Given the description of an element on the screen output the (x, y) to click on. 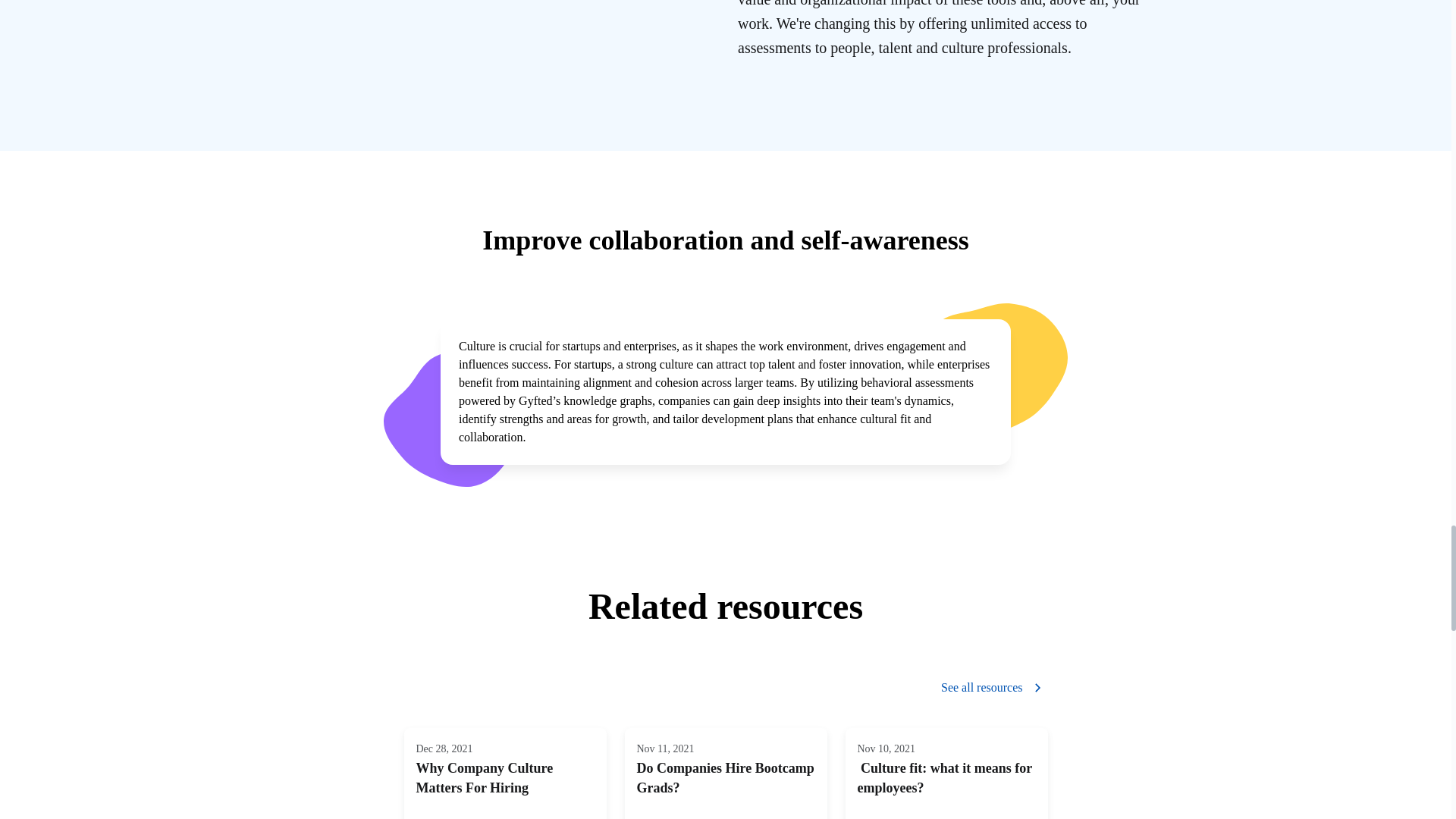
See all resources (725, 773)
